Given the description of an element on the screen output the (x, y) to click on. 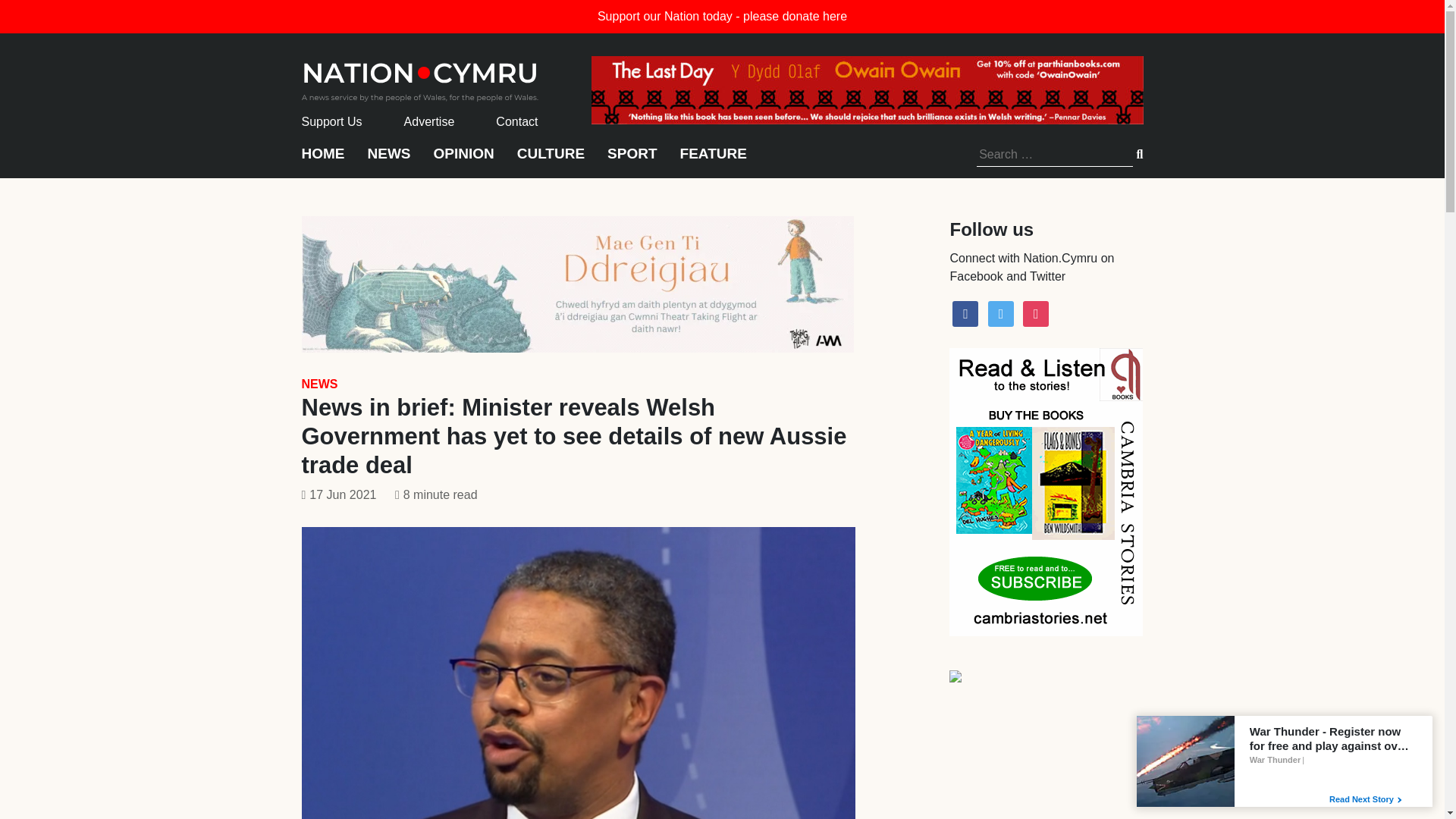
home (419, 77)
FEATURE (712, 160)
OPINION (464, 160)
Advertise (429, 121)
NEWS (319, 383)
SPORT (631, 160)
HOME (323, 160)
CULTURE (550, 160)
Support Us (331, 121)
NEWS (388, 160)
Contact (516, 121)
